Given the description of an element on the screen output the (x, y) to click on. 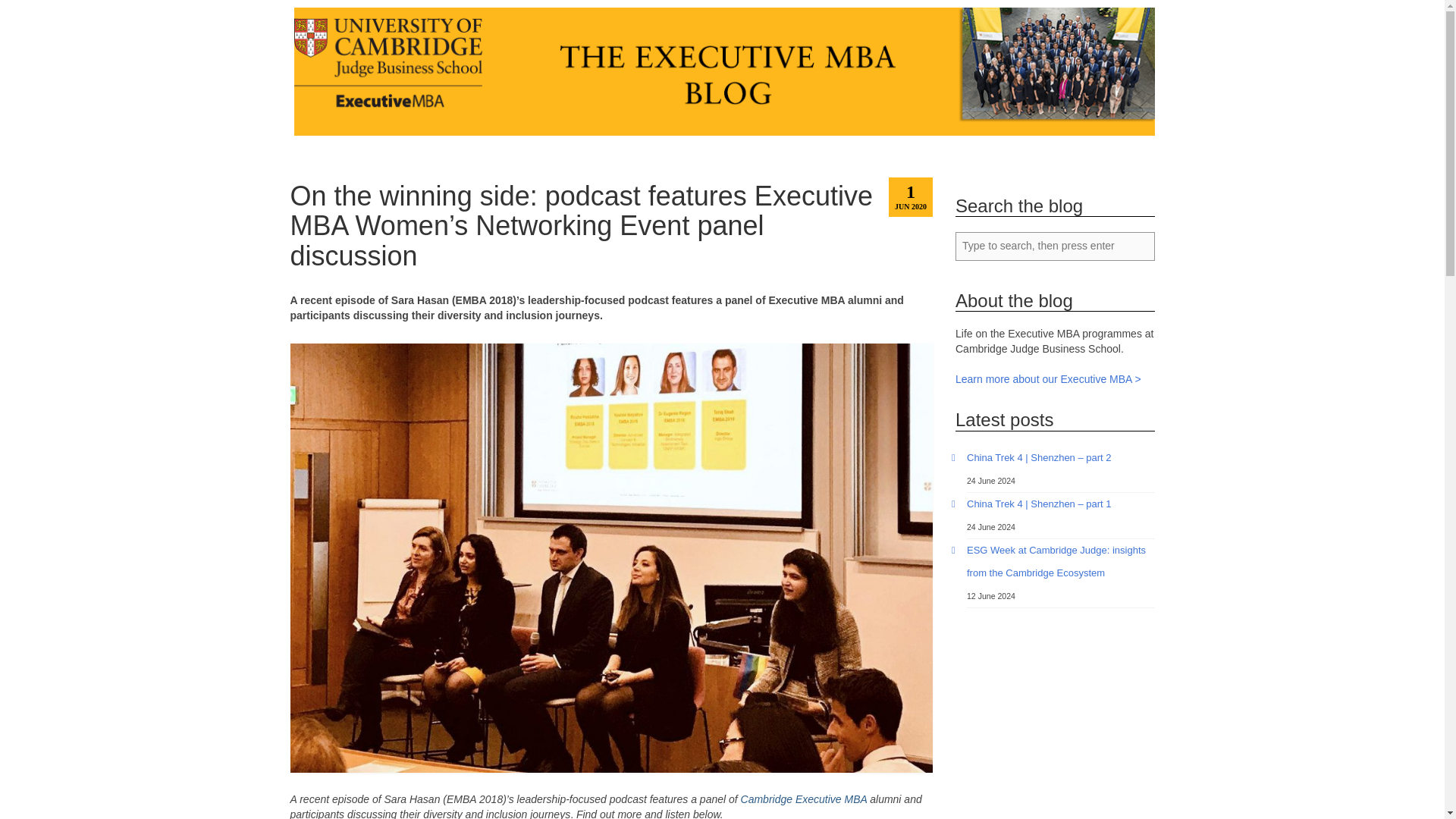
Cambridge Executive MBA (804, 799)
